Given the description of an element on the screen output the (x, y) to click on. 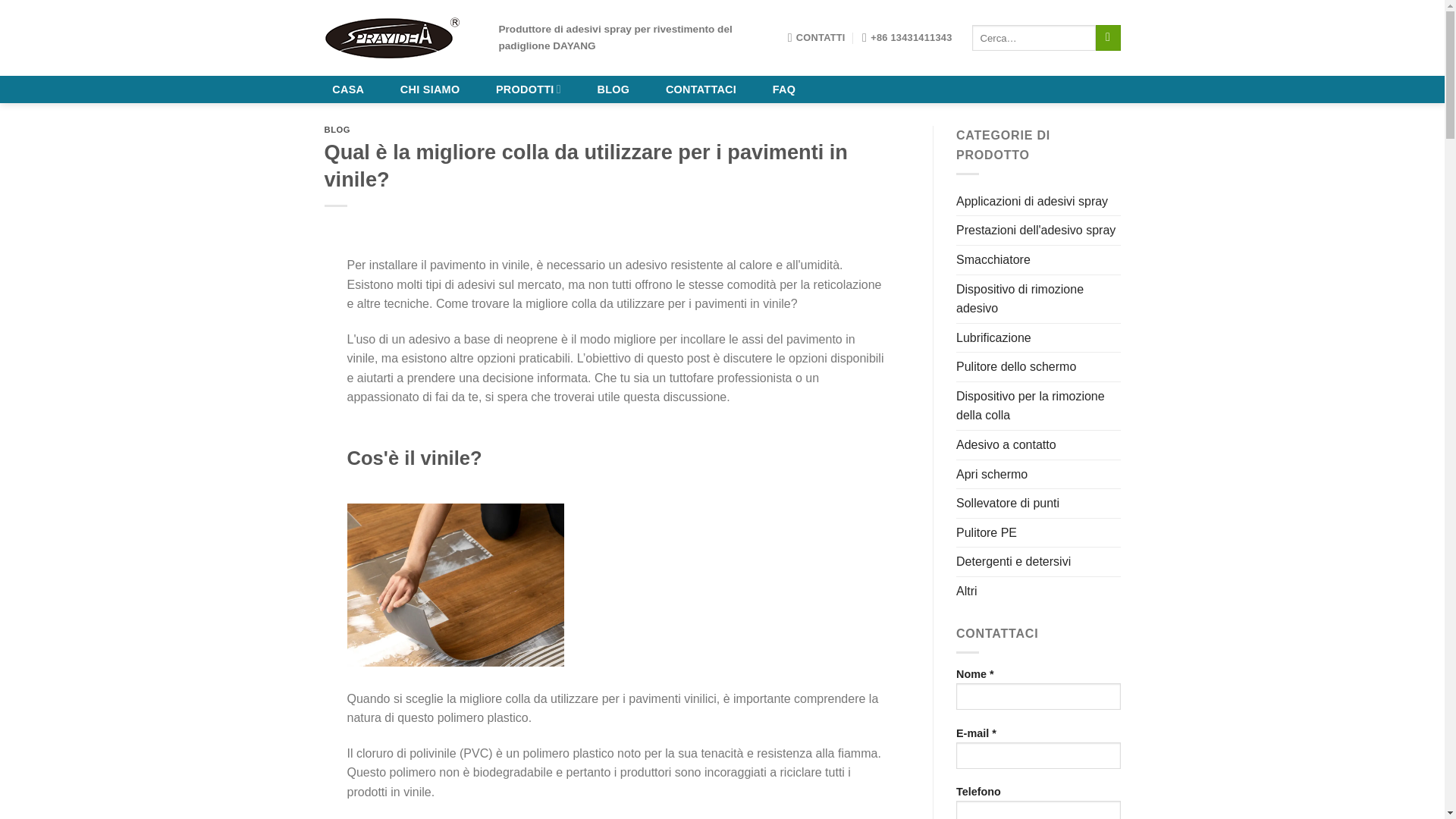
BLOG (337, 129)
SPRAYIDEA (400, 37)
PRODOTTI (528, 89)
CONTATTI (816, 37)
CASA (348, 89)
BLOG (613, 89)
CHI SIAMO (429, 89)
FAQ (783, 89)
Cerca (1108, 37)
CONTATTACI (701, 89)
